Given the description of an element on the screen output the (x, y) to click on. 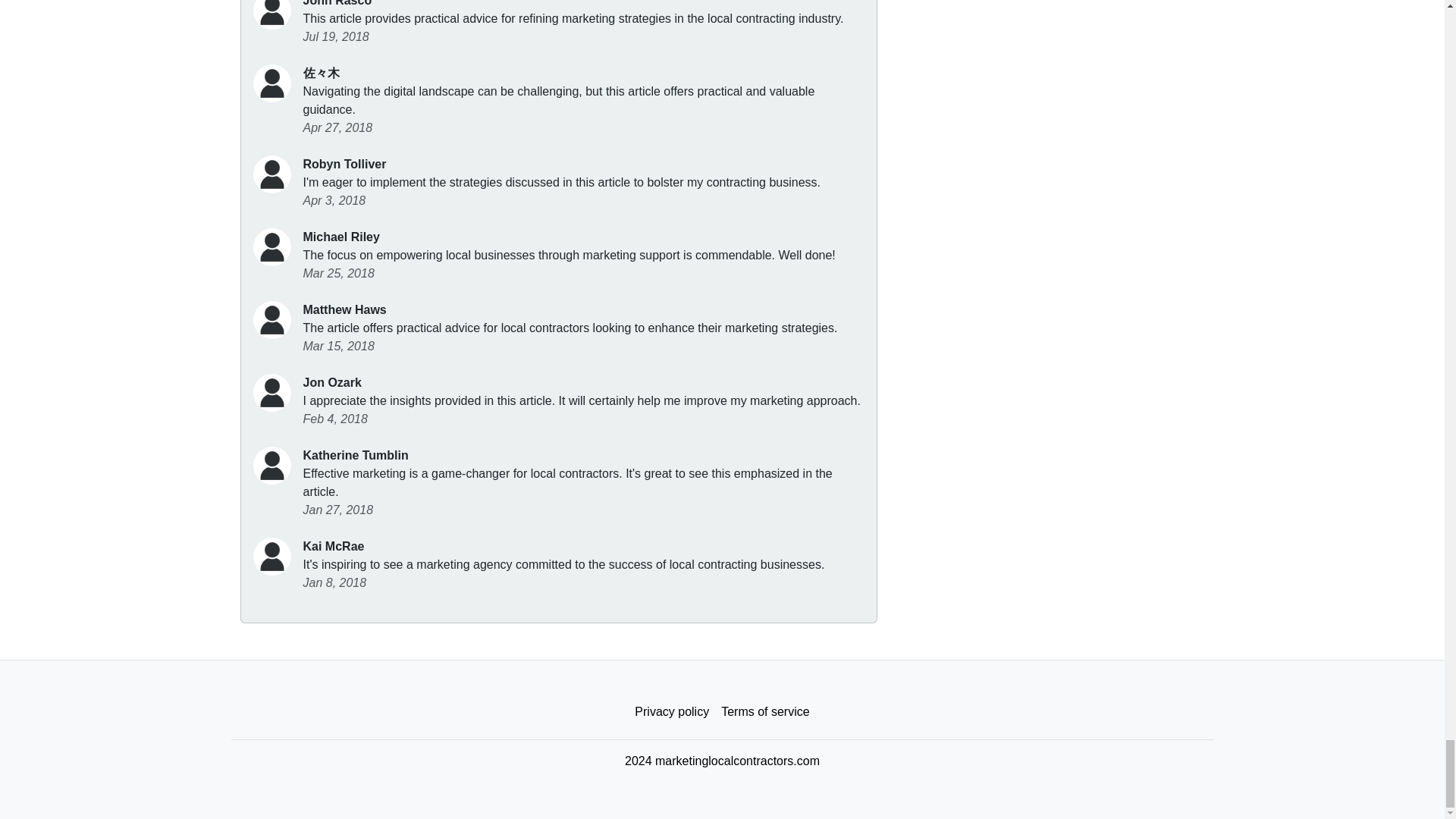
Privacy policy (671, 711)
Terms of service (764, 711)
